Given the description of an element on the screen output the (x, y) to click on. 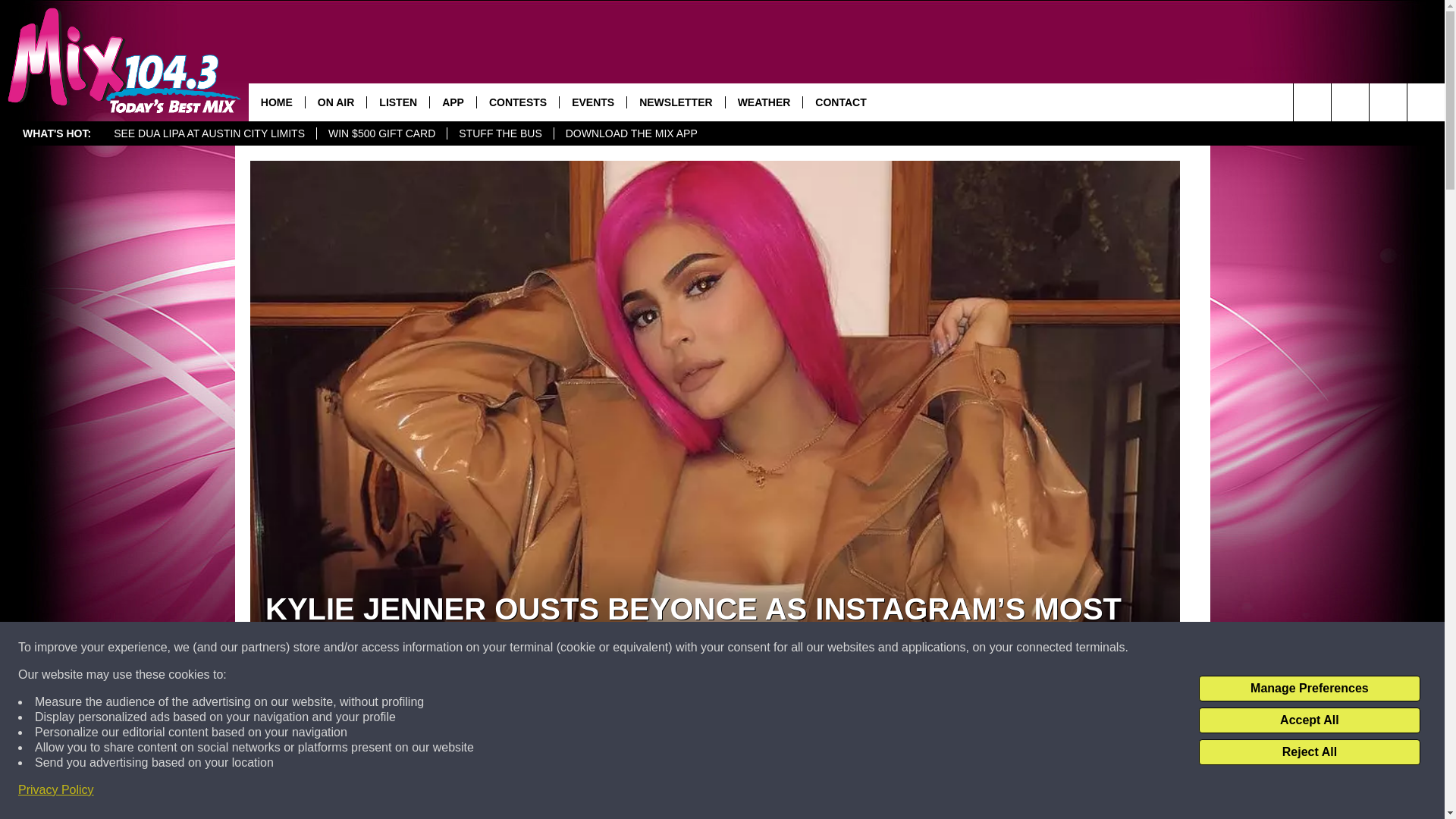
Privacy Policy (55, 789)
DOWNLOAD THE MIX APP (631, 133)
EVENTS (592, 102)
Manage Preferences (1309, 688)
ON AIR (335, 102)
Accept All (1309, 720)
APP (452, 102)
WHAT'S HOT: (56, 133)
Share on Twitter (912, 791)
SEE DUA LIPA AT AUSTIN CITY LIMITS (208, 133)
Share on Facebook (517, 791)
CONTESTS (517, 102)
LISTEN (397, 102)
HOME (276, 102)
Reject All (1309, 751)
